Given the description of an element on the screen output the (x, y) to click on. 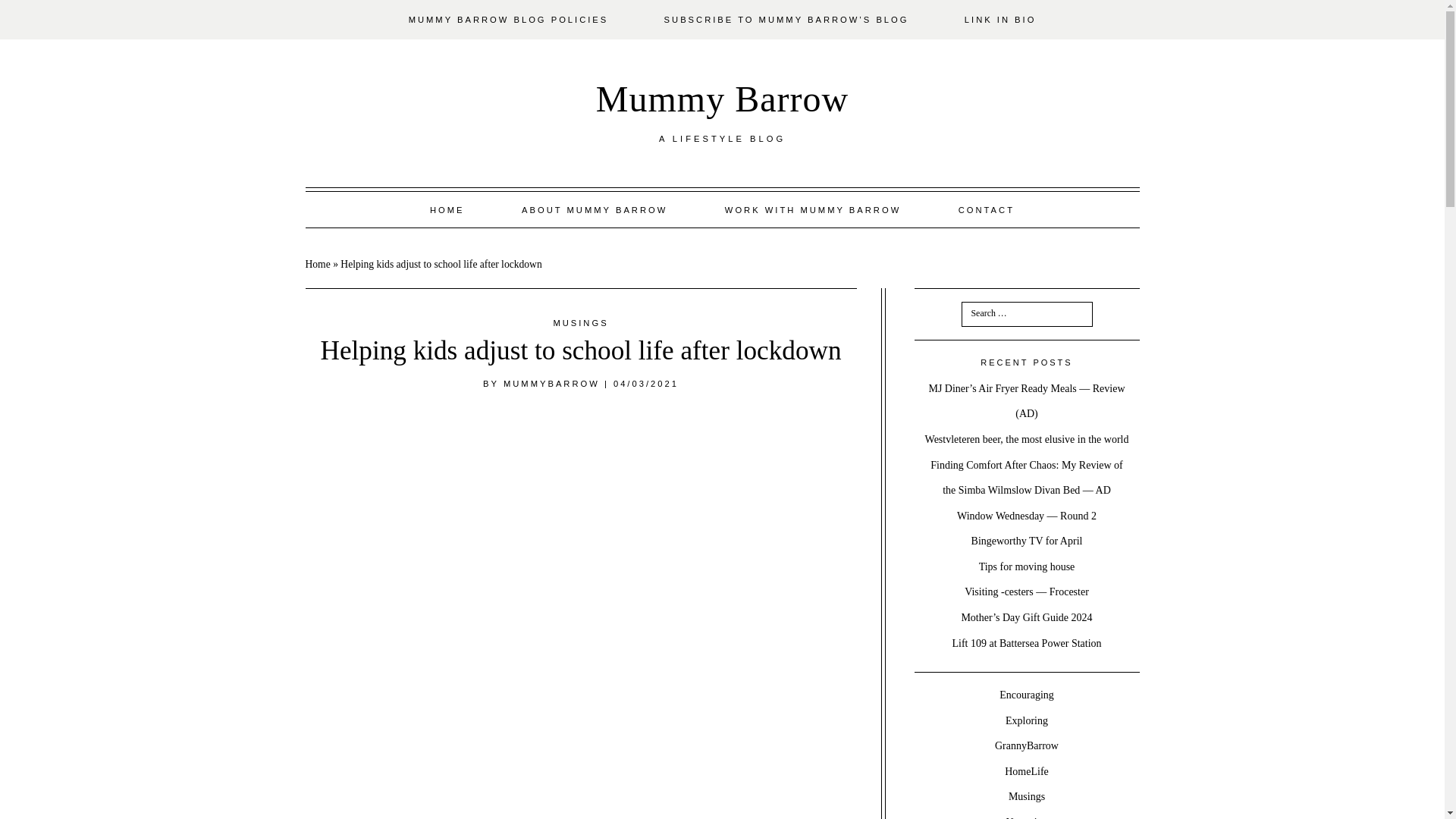
Mummy Barrow (721, 98)
Home (317, 264)
MUMMY BARROW BLOG POLICIES (507, 19)
HOME (446, 209)
Search (27, 8)
ABOUT MUMMY BARROW (594, 209)
Westvleteren beer, the most elusive in the world (1026, 439)
WORK WITH MUMMY BARROW (812, 209)
MUMMYBARROW (551, 383)
CONTACT (986, 209)
LINK IN BIO (1000, 19)
MUSINGS (580, 322)
